Given the description of an element on the screen output the (x, y) to click on. 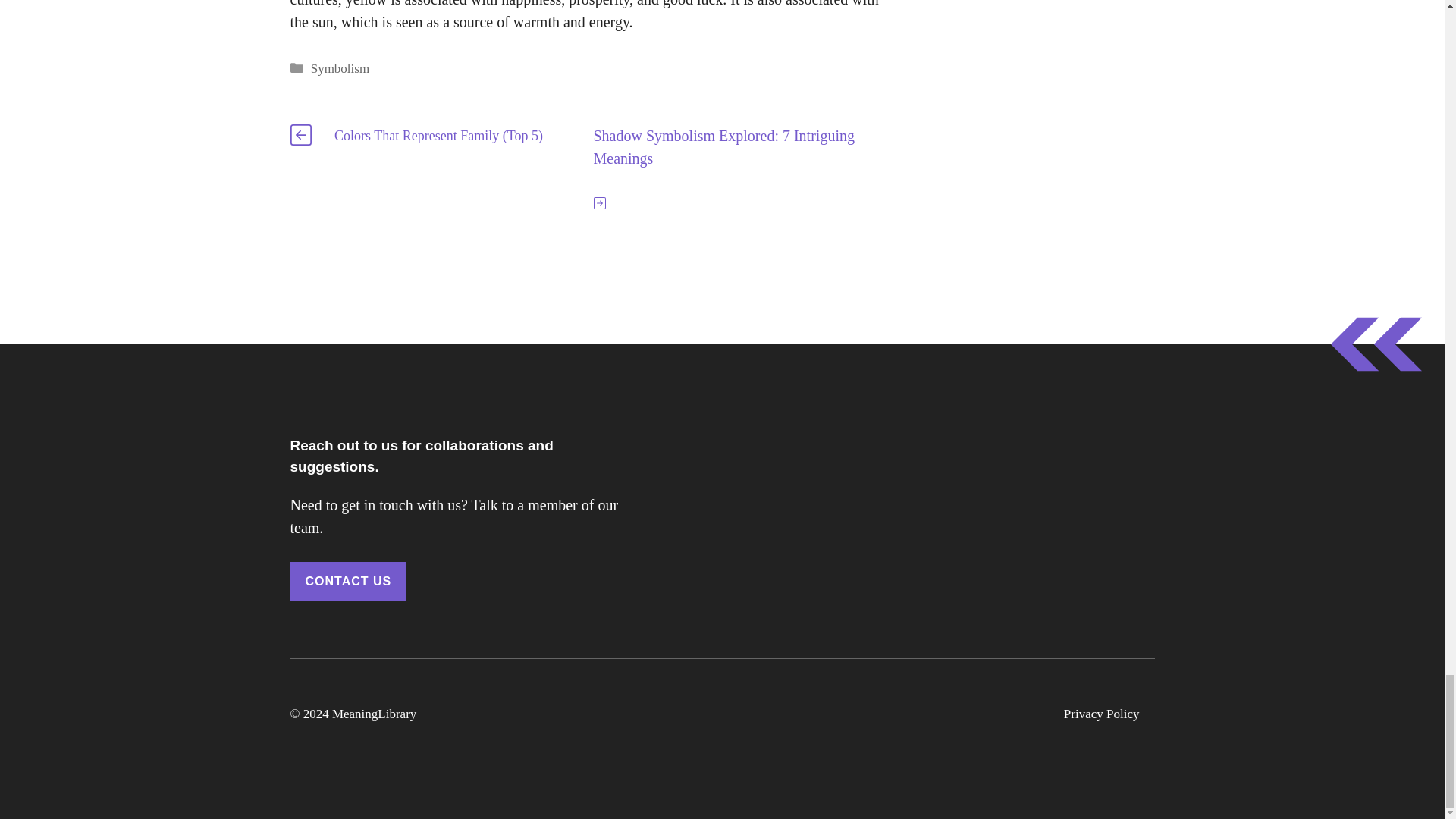
Symbolism (340, 68)
Shadow Symbolism Explored: 7 Intriguing Meanings (722, 147)
CONTACT US (347, 581)
Privacy Policy (1102, 713)
